Given the description of an element on the screen output the (x, y) to click on. 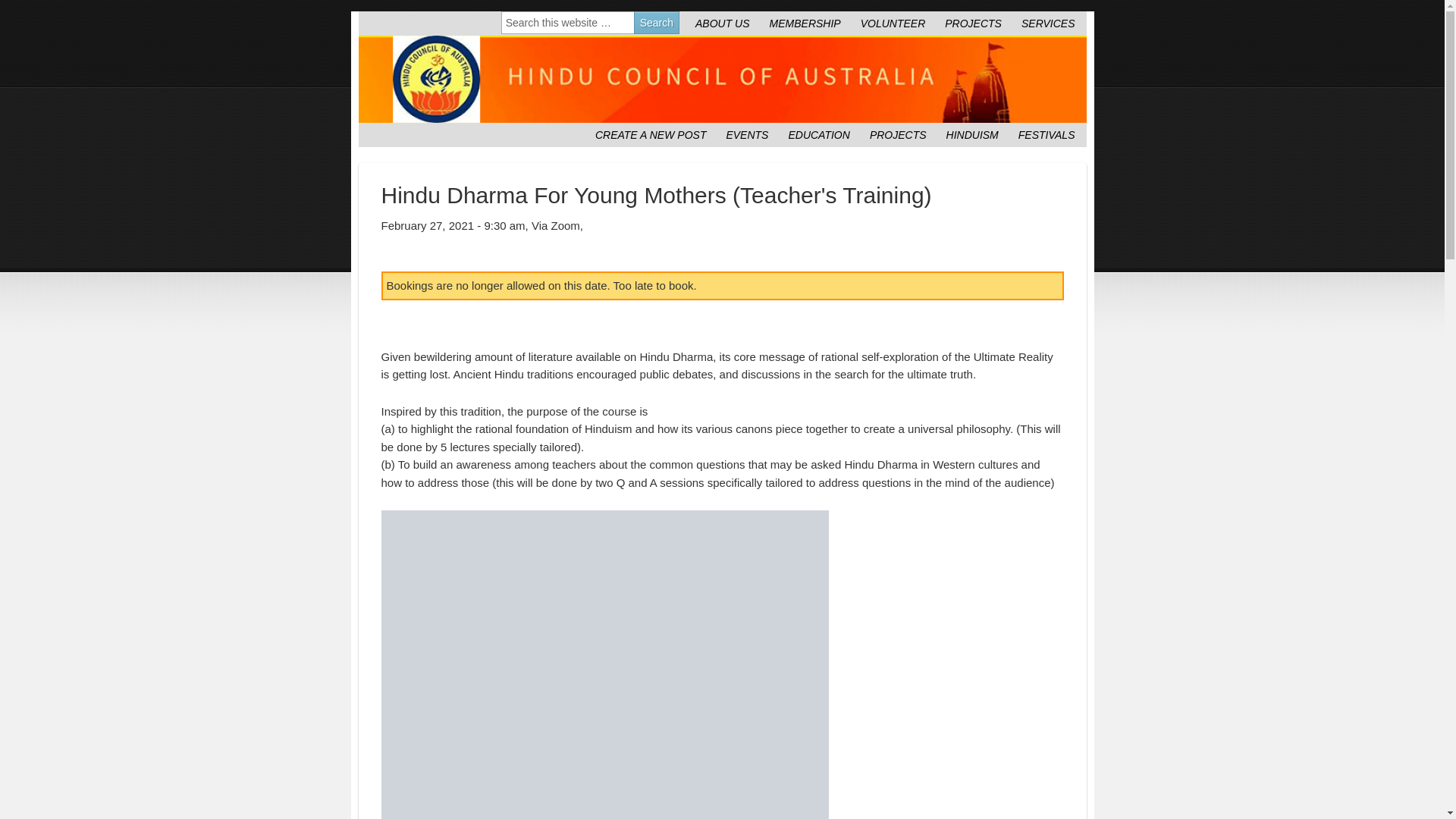
SERVICES Element type: text (1048, 23)
HINDU COUNCIL OF AUSTRALIA Element type: text (721, 78)
CREATE A NEW POST Element type: text (650, 134)
VOLUNTEER Element type: text (893, 23)
Search Element type: text (656, 22)
EVENTS Element type: text (746, 134)
PROJECTS Element type: text (898, 134)
FESTIVALS Element type: text (1046, 134)
PROJECTS Element type: text (973, 23)
ABOUT US Element type: text (722, 23)
HINDUISM Element type: text (972, 134)
MEMBERSHIP Element type: text (805, 23)
EDUCATION Element type: text (818, 134)
